Given the description of an element on the screen output the (x, y) to click on. 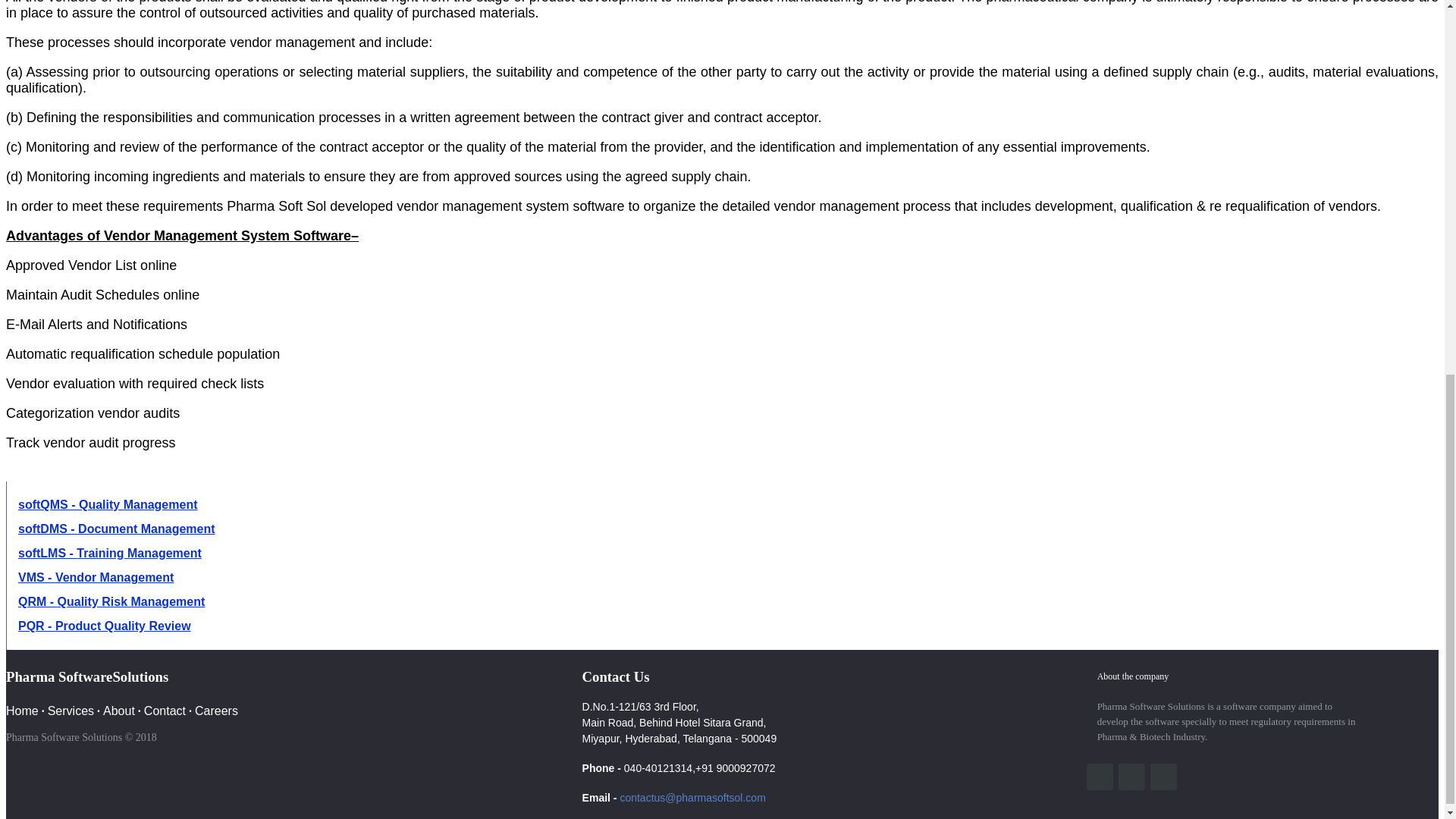
VMS - Vendor Management (95, 576)
Careers (216, 711)
Services (71, 711)
Contact (165, 711)
PQR - Product Quality Review (103, 625)
About (119, 711)
softLMS - Training Management (109, 553)
softDMS - Document Management (116, 528)
softQMS - Quality Management (106, 504)
Home (22, 711)
